Given the description of an element on the screen output the (x, y) to click on. 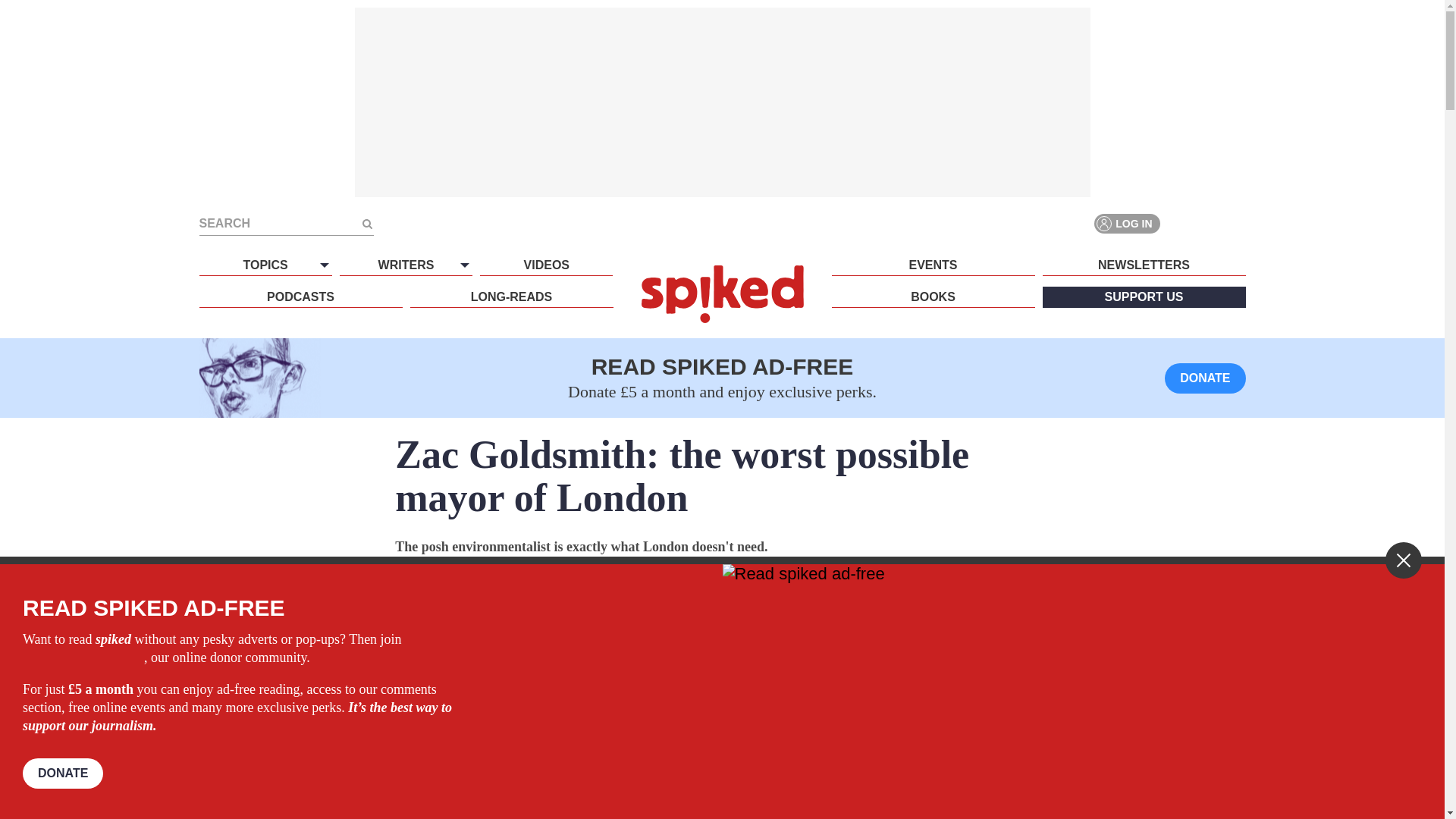
spiked - humanity is underrated (722, 293)
NEWSLETTERS (1143, 265)
VIDEOS (546, 265)
BOOKS (932, 296)
SUPPORT US (1143, 296)
Facebook (1180, 223)
YouTube (1234, 223)
PODCASTS (299, 296)
LOG IN (1126, 223)
WRITERS (405, 265)
